Given the description of an element on the screen output the (x, y) to click on. 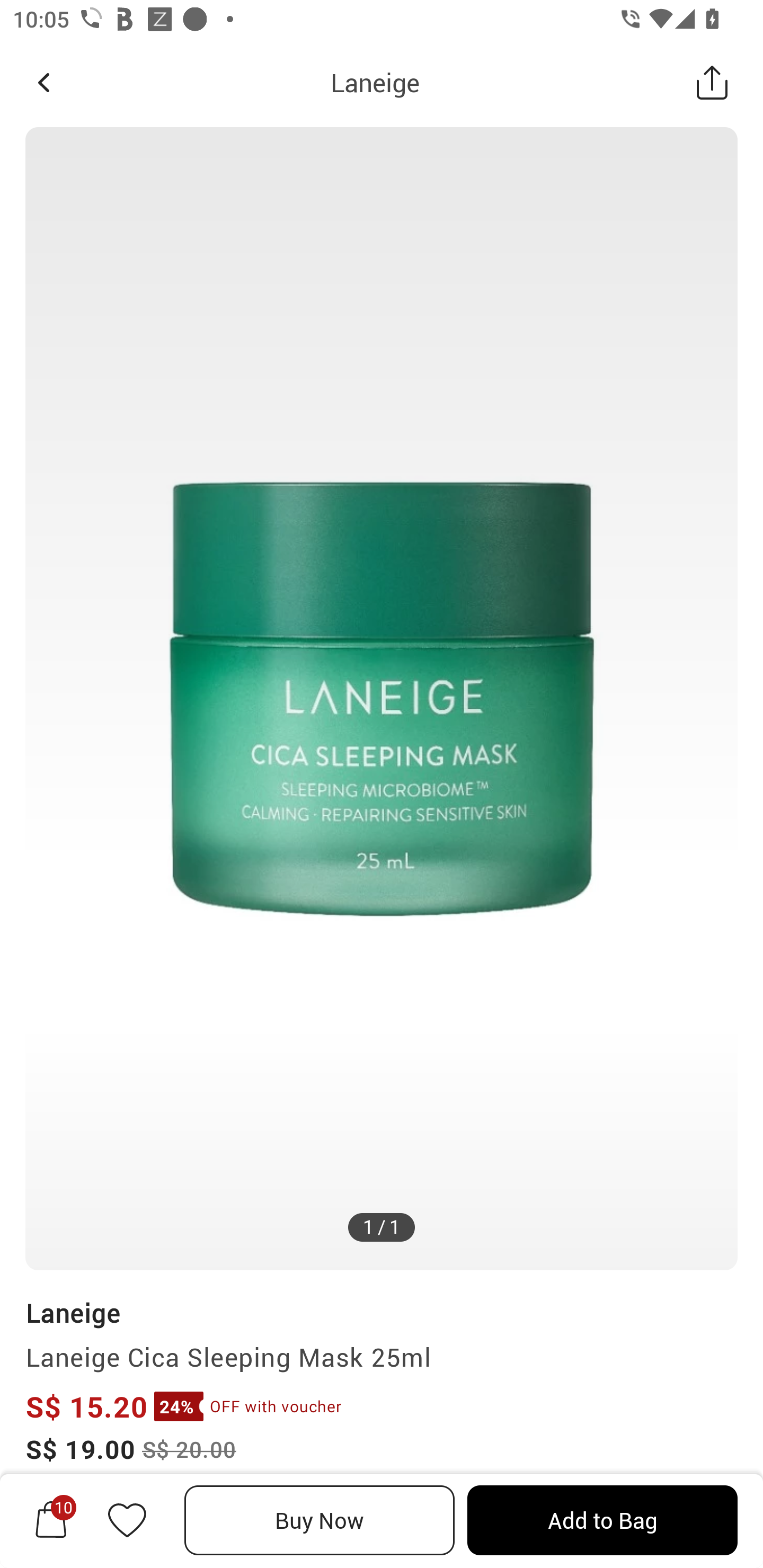
Laneige (375, 82)
Share this Product (711, 82)
Laneige (72, 1312)
Buy Now (319, 1519)
Add to Bag (601, 1519)
10 (50, 1520)
